Given the description of an element on the screen output the (x, y) to click on. 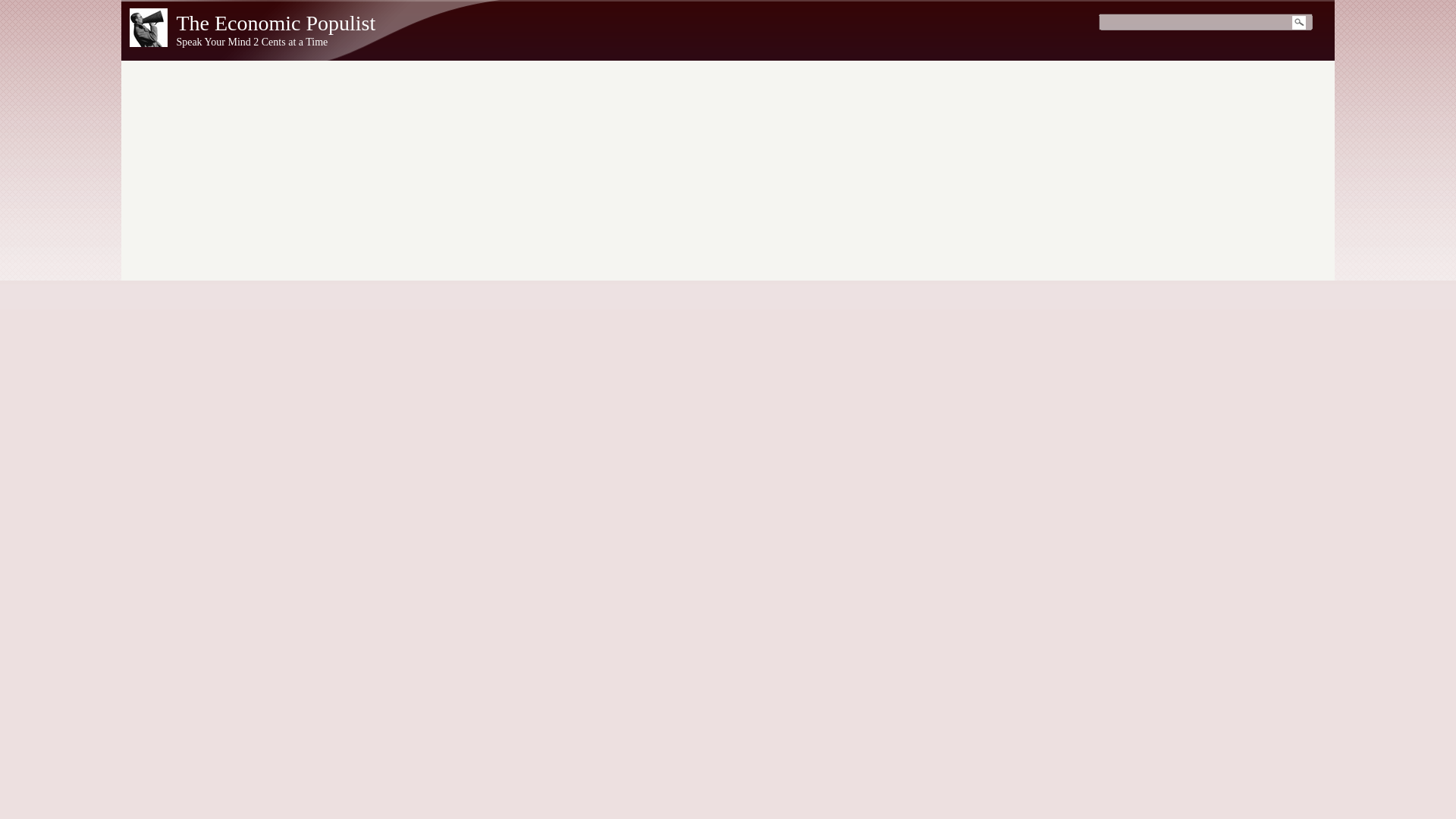
Home page (275, 23)
The Economic Populist (148, 43)
The Economic Populist (275, 23)
